Given the description of an element on the screen output the (x, y) to click on. 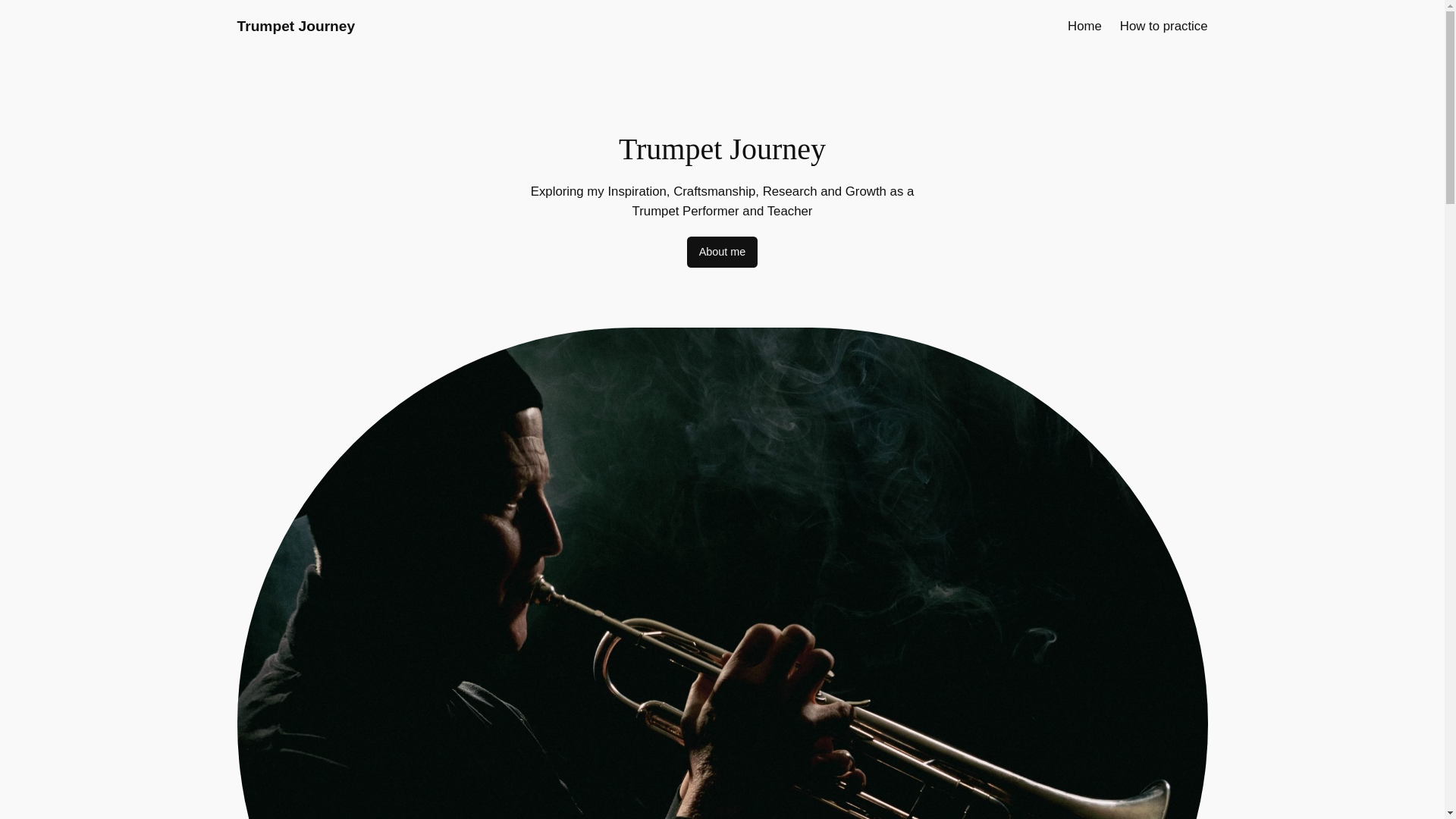
How to practice (1163, 26)
About me (722, 252)
Home (1084, 26)
Trumpet Journey (295, 26)
